Given the description of an element on the screen output the (x, y) to click on. 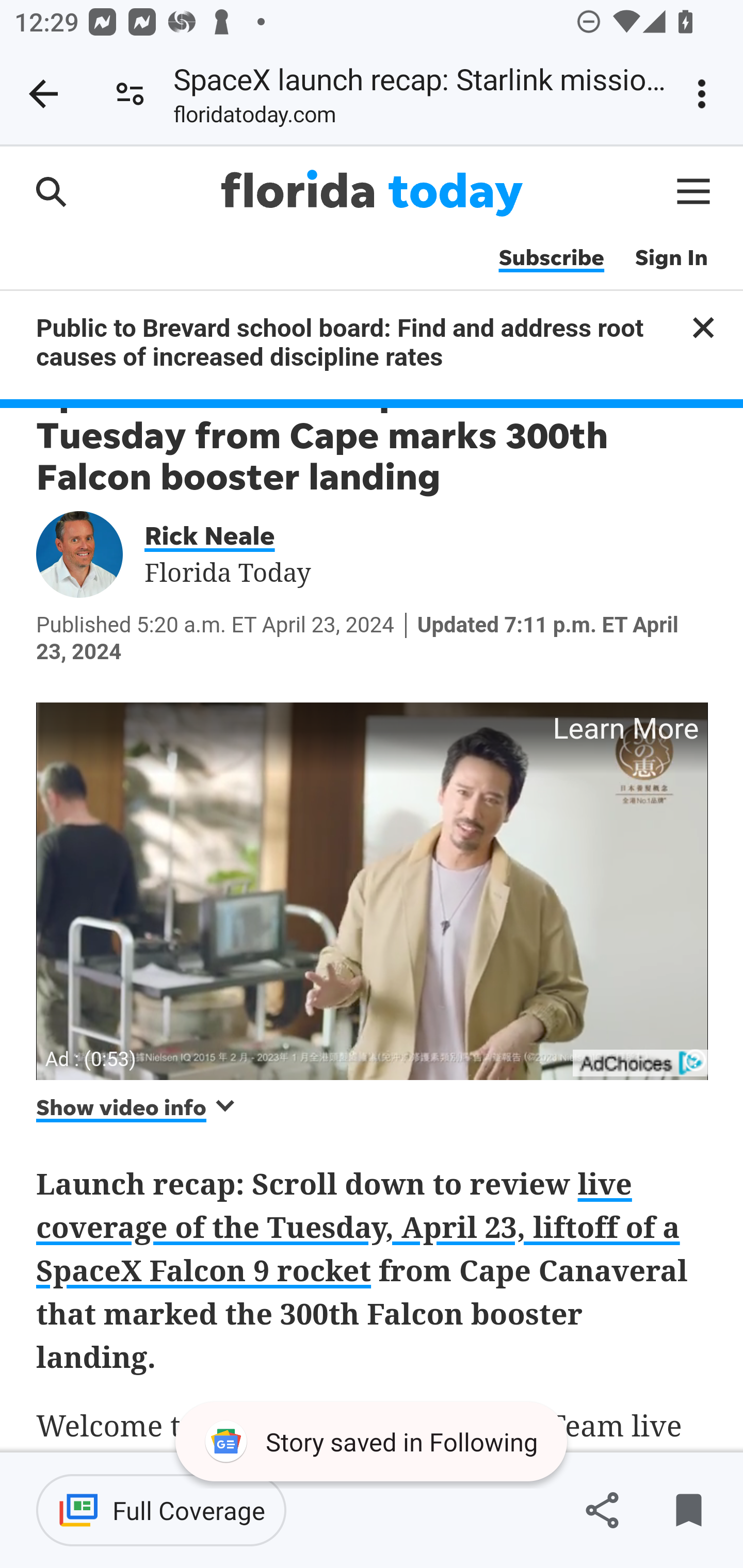
Close tab (43, 93)
Customize and control Google Chrome (705, 93)
Connection is secure (129, 93)
floridatoday.com (254, 117)
Florida Today (371, 193)
Search (50, 191)
Global Navigation (693, 191)
Subscribe (550, 257)
Sign In (671, 257)
Close notification (702, 327)
Rick Neale (222, 534)
help_outline_white_24dp_with_3px_trbl_padding (696, 1059)
get?name=admarker-full-tl (641, 1062)
Show video info (137, 1106)
Full Coverage (161, 1509)
Share (601, 1510)
Remove from saved stories (688, 1510)
